Given the description of an element on the screen output the (x, y) to click on. 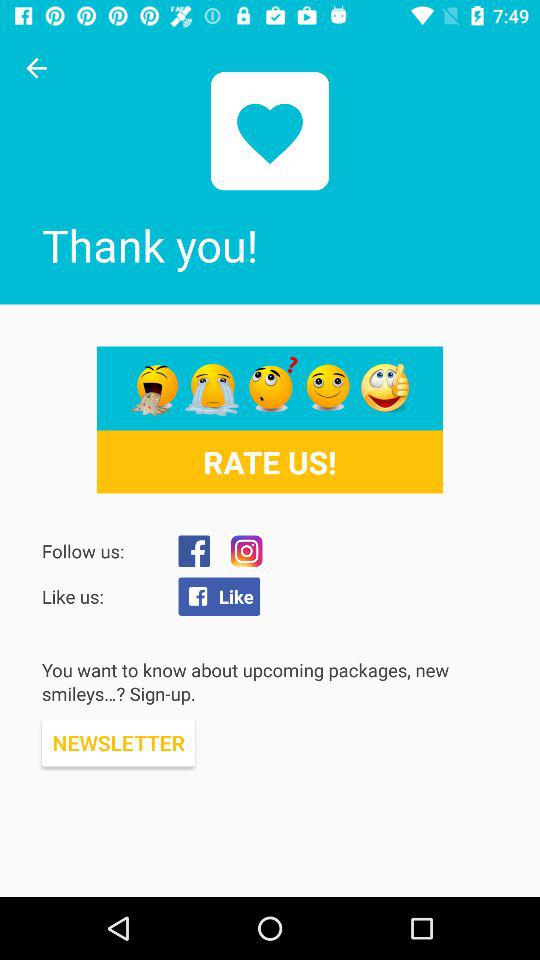
go to previous page (36, 68)
